Given the description of an element on the screen output the (x, y) to click on. 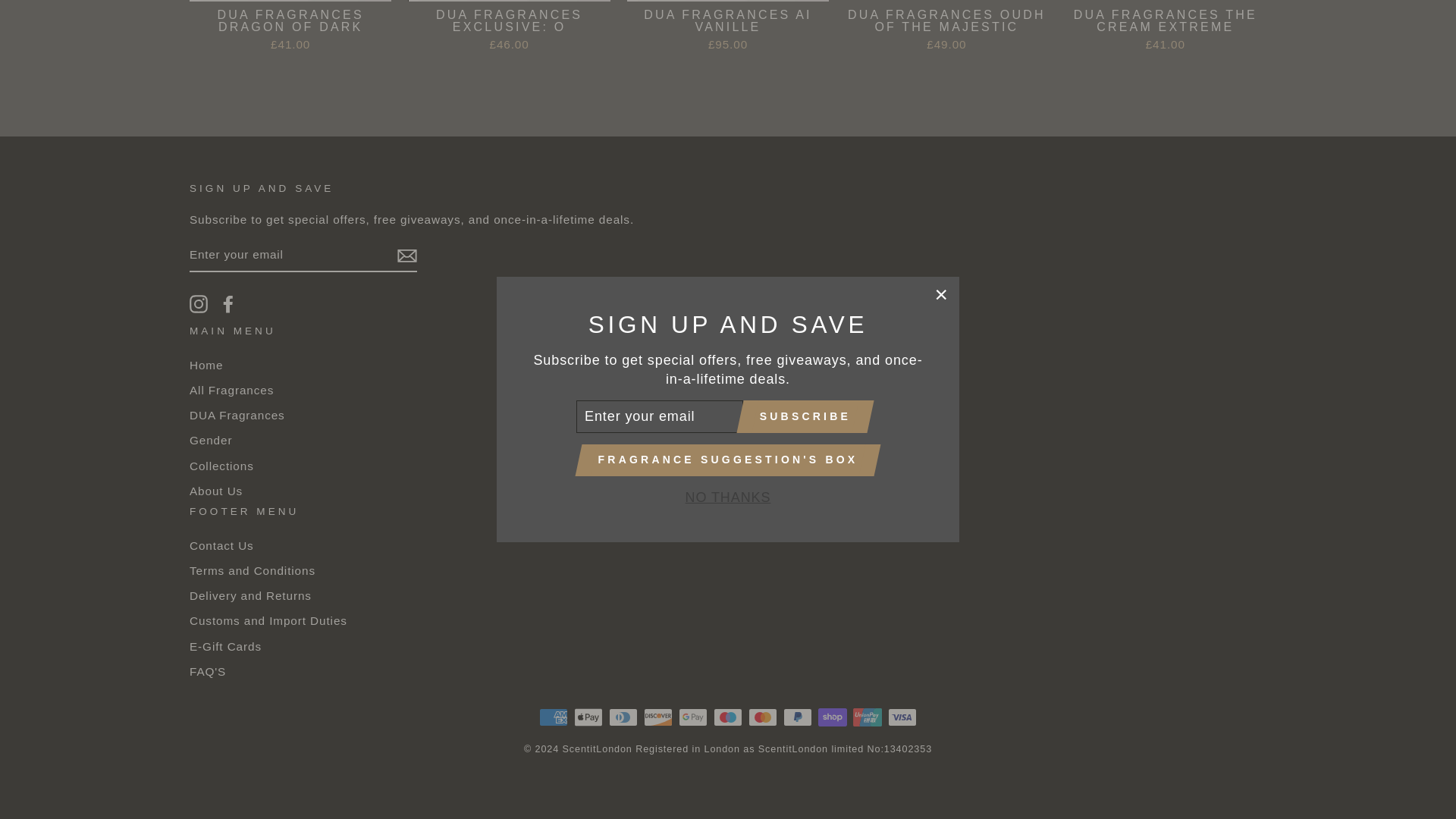
Google Pay (692, 717)
American Express (552, 717)
Shop Pay (832, 717)
Visa (902, 717)
Discover (657, 717)
PayPal (797, 717)
Maestro (727, 717)
Mastercard (762, 717)
Apple Pay (587, 717)
Union Pay (867, 717)
Diners Club (622, 717)
